Given the description of an element on the screen output the (x, y) to click on. 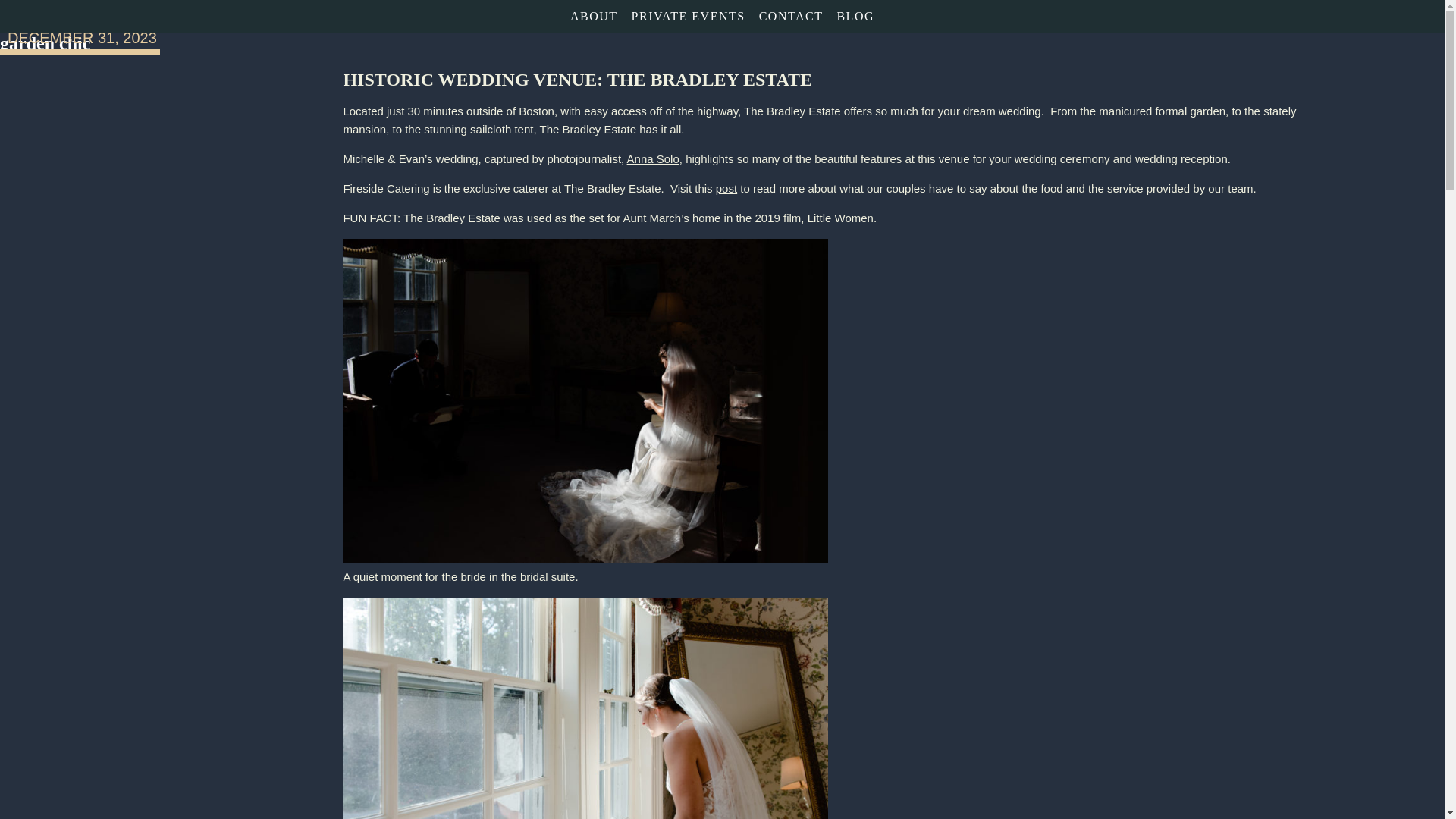
Facebook (1414, 17)
The Bradley Estate (90, 16)
HISTORIC WEDDING VENUE: THE BRADLEY ESTATE (577, 79)
ABOUT (593, 16)
CONTACT (791, 16)
BLOG (855, 16)
Anna Solo (653, 158)
post (726, 187)
Pinterest (1382, 17)
PRIVATE EVENTS (688, 16)
